Given the description of an element on the screen output the (x, y) to click on. 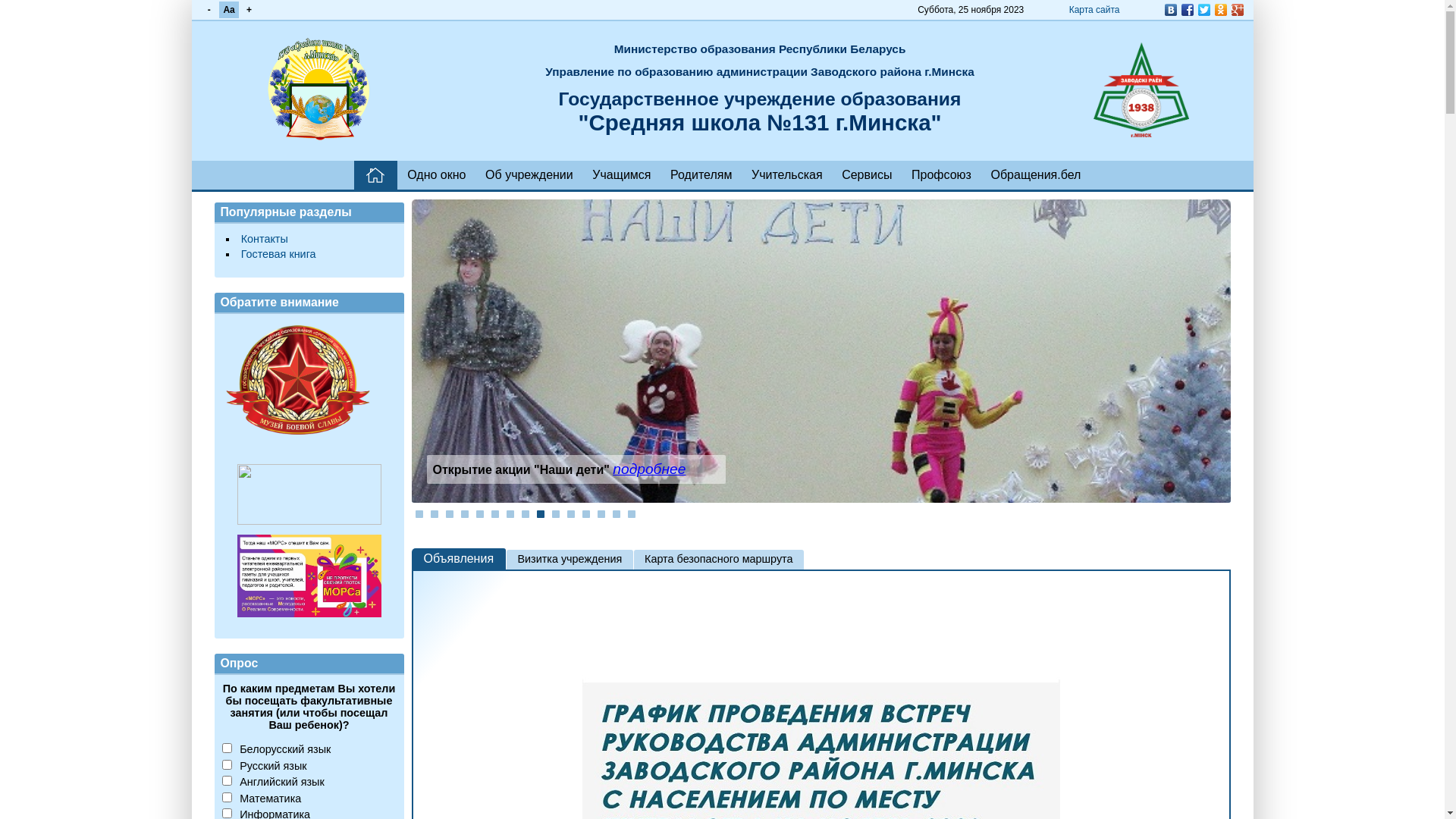
1 Element type: text (419, 513)
2 Element type: text (434, 513)
13 Element type: text (601, 513)
5 Element type: text (479, 513)
dadomu.by Element type: hover (308, 494)
+ Element type: text (248, 9)
4 Element type: text (464, 513)
3 Element type: text (449, 513)
Prev Element type: text (438, 358)
15 Element type: text (631, 513)
10 Element type: text (555, 513)
Stop Element type: text (1222, 514)
8 Element type: text (525, 513)
Next Element type: text (1202, 358)
12 Element type: text (585, 513)
Facebook Element type: hover (1186, 9)
- Element type: text (208, 9)
Aa Element type: text (228, 9)
7 Element type: text (510, 513)
14 Element type: text (616, 513)
6 Element type: text (494, 513)
Twitter Element type: hover (1203, 9)
Google Plus Element type: hover (1236, 9)
11 Element type: text (570, 513)
Start Element type: text (1210, 514)
9 Element type: text (540, 513)
